Given the description of an element on the screen output the (x, y) to click on. 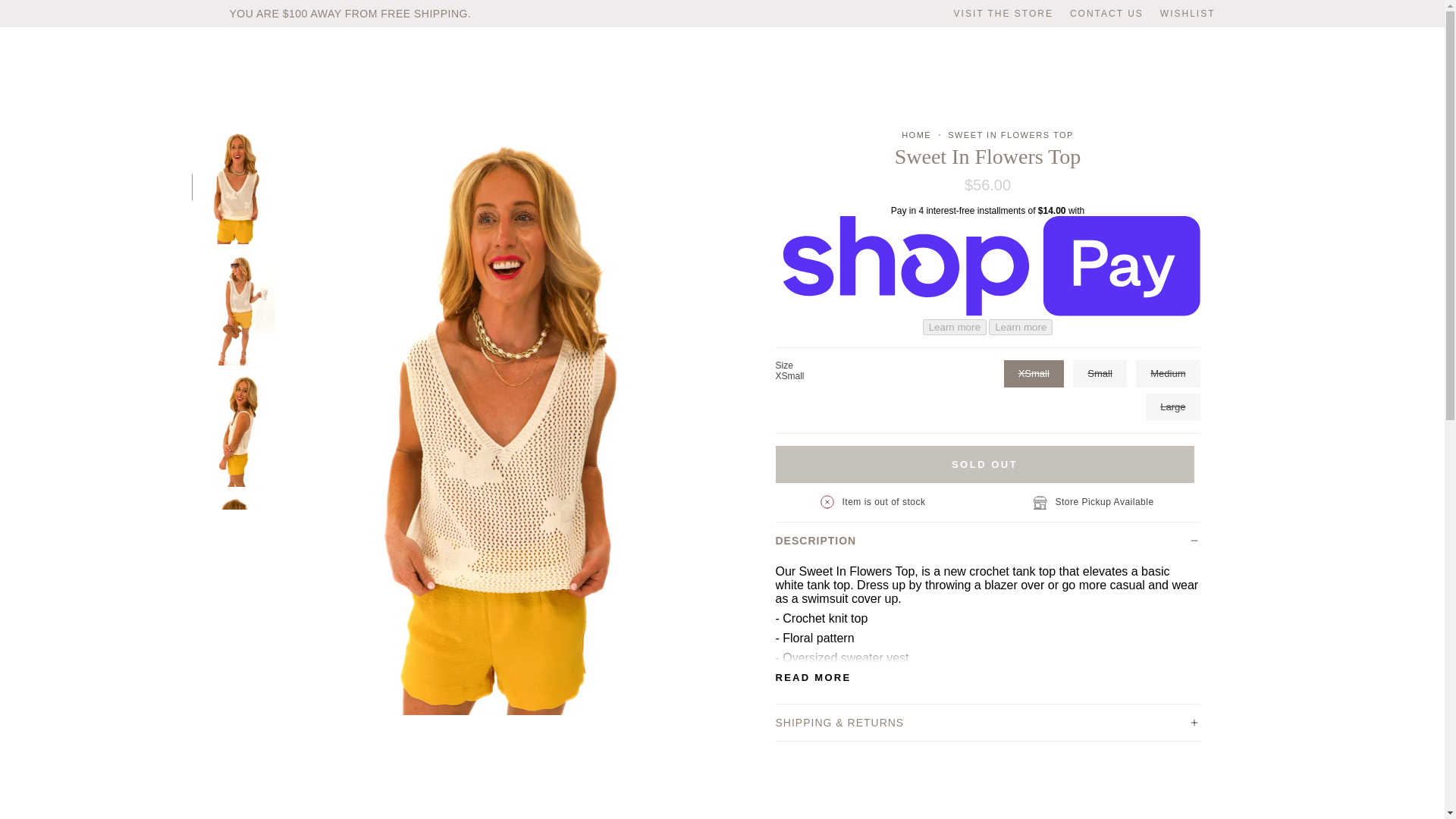
CONTACT US (1106, 13)
WISHLIST (1187, 13)
VISIT THE STORE (1002, 13)
